Given the description of an element on the screen output the (x, y) to click on. 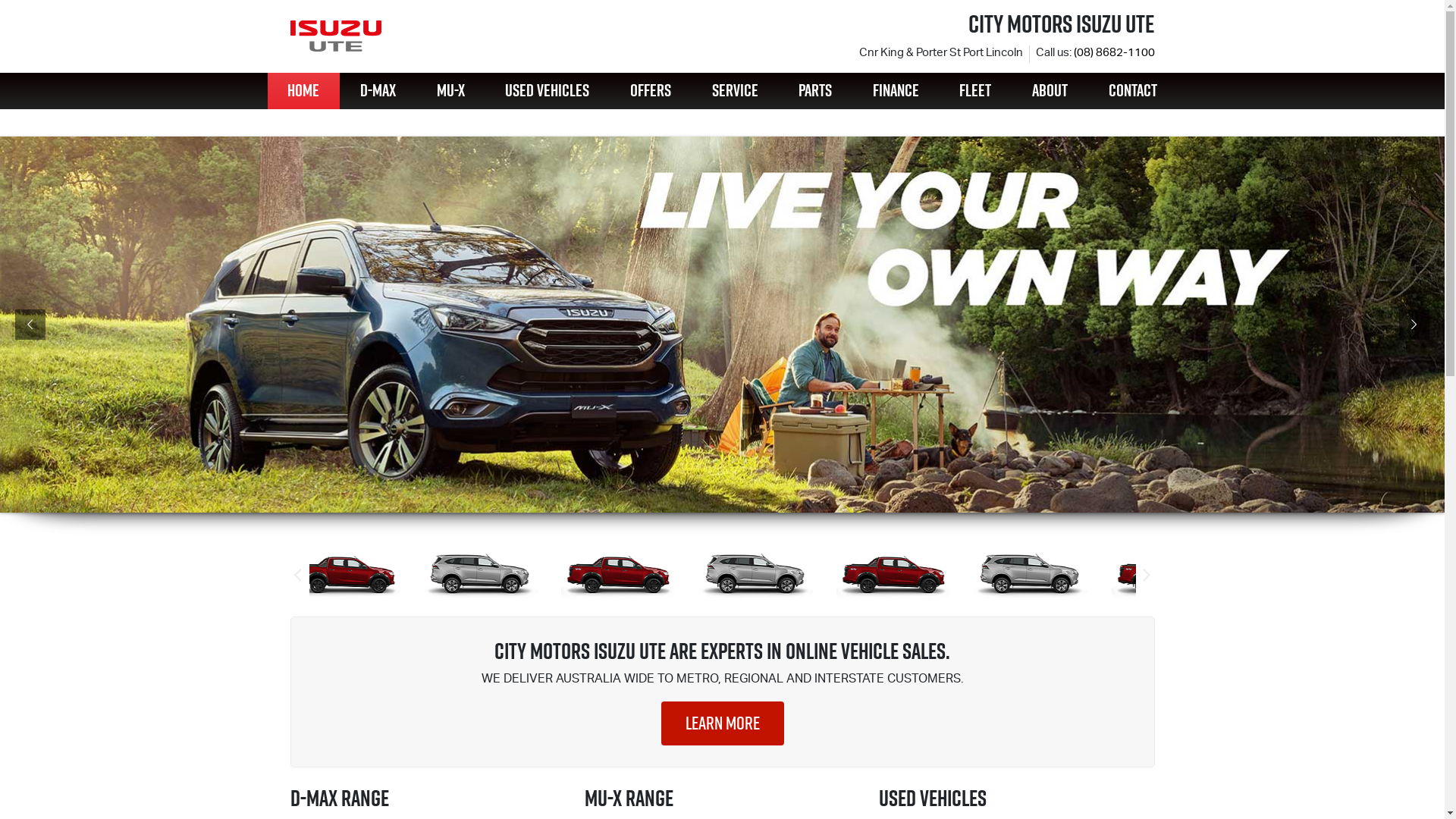
FINANCE Element type: text (895, 90)
OFFERS Element type: text (650, 90)
D-MAX Element type: text (377, 90)
USED VEHICLES Element type: text (546, 90)
LEARN MORE Element type: text (722, 723)
PARTS Element type: text (815, 90)
ABOUT Element type: text (1049, 90)
CONTACT Element type: text (1132, 90)
HOME Element type: text (302, 90)
FLEET Element type: text (975, 90)
MU-X Element type: text (450, 90)
(08) 8682-1100 Element type: text (1113, 53)
SERVICE Element type: text (734, 90)
